Given the description of an element on the screen output the (x, y) to click on. 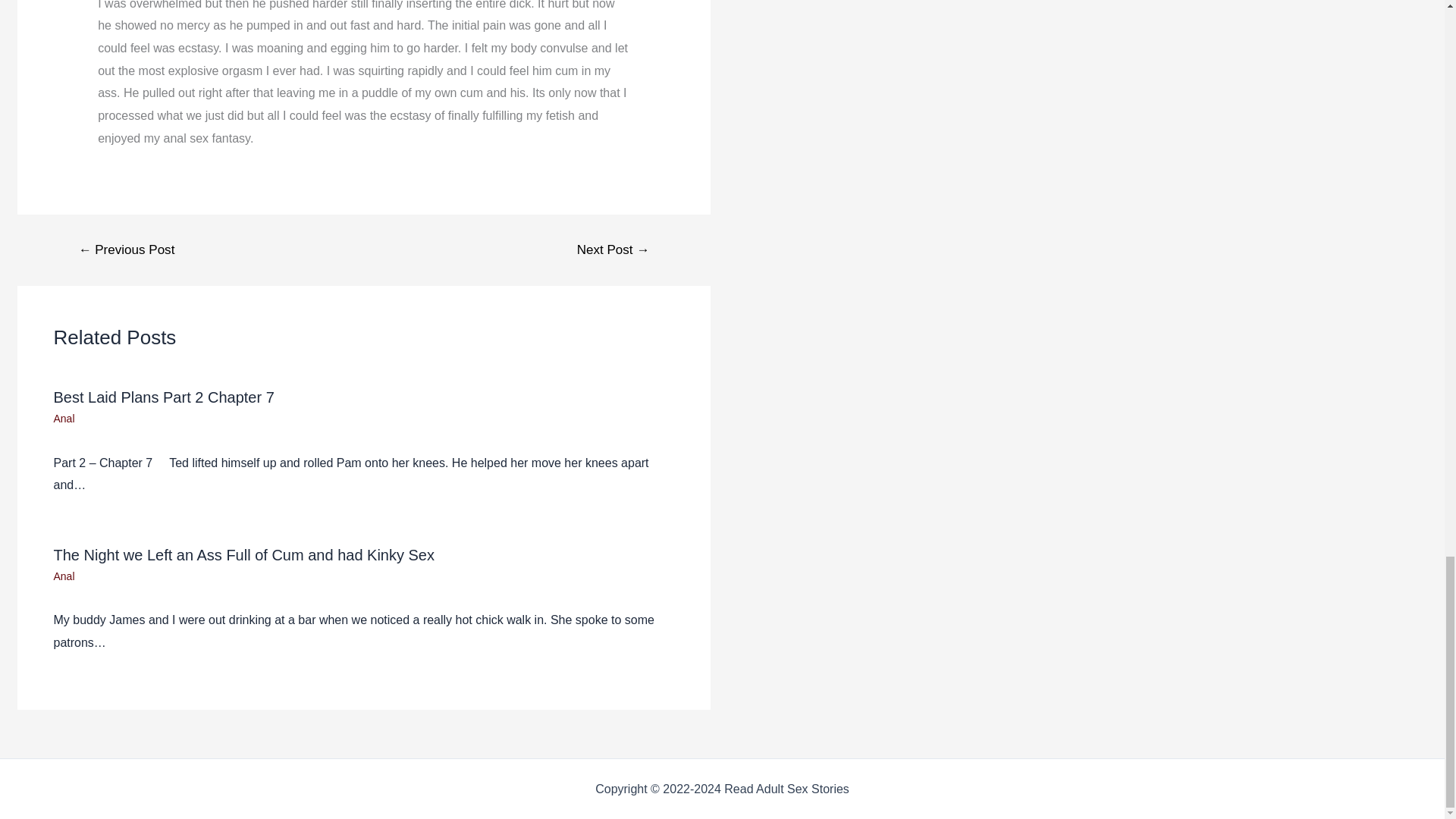
Anal (63, 418)
Anal (63, 576)
The Night we Left an Ass Full of Cum and had Kinky Sex (242, 555)
Best Laid Plans Part 2 Chapter 7 (162, 397)
